Given the description of an element on the screen output the (x, y) to click on. 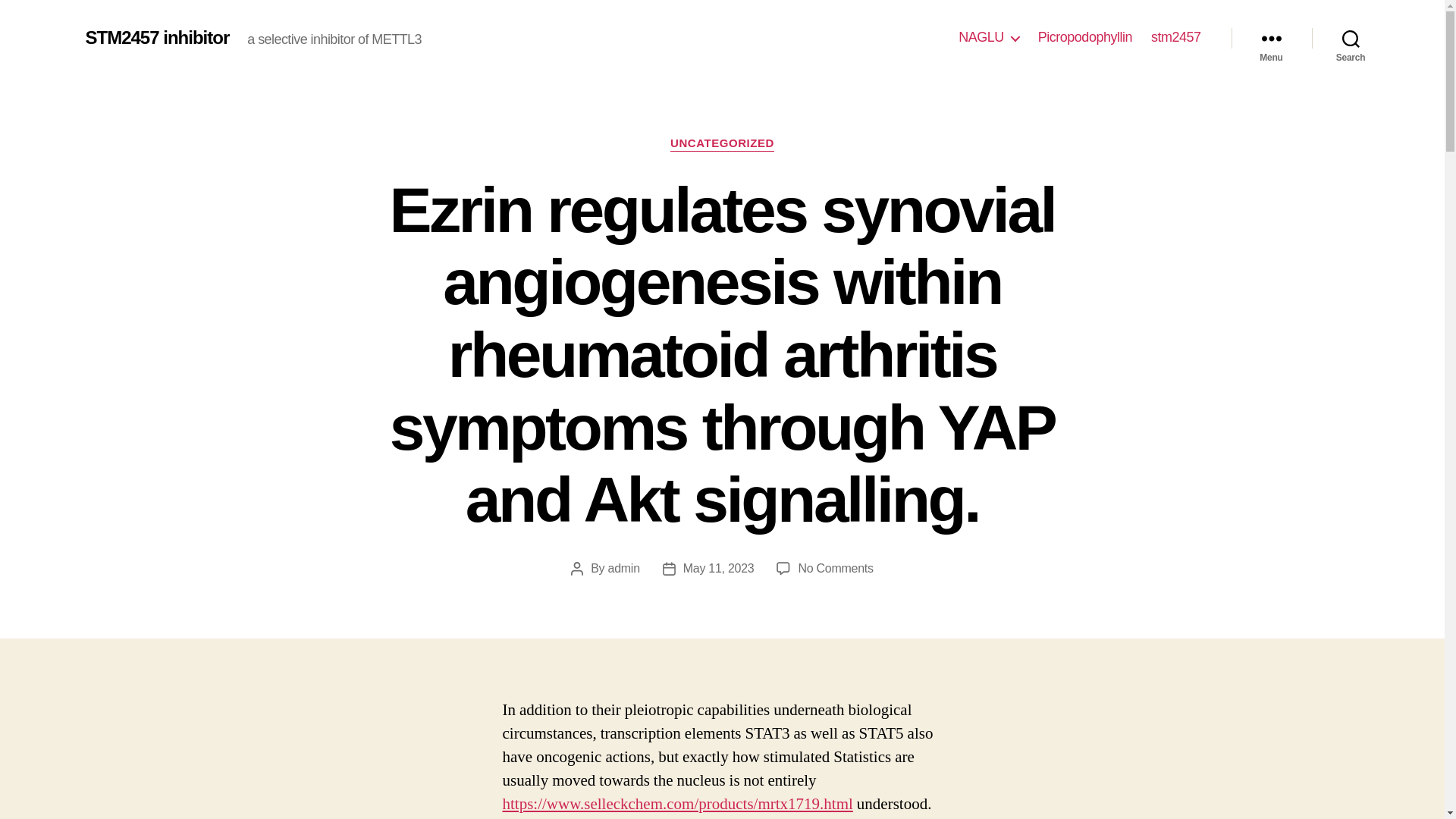
UNCATEGORIZED (721, 143)
Picropodophyllin (1085, 37)
STM2457 inhibitor (156, 37)
NAGLU (988, 37)
Search (1350, 37)
Menu (1271, 37)
admin (624, 567)
stm2457 (1176, 37)
